Given the description of an element on the screen output the (x, y) to click on. 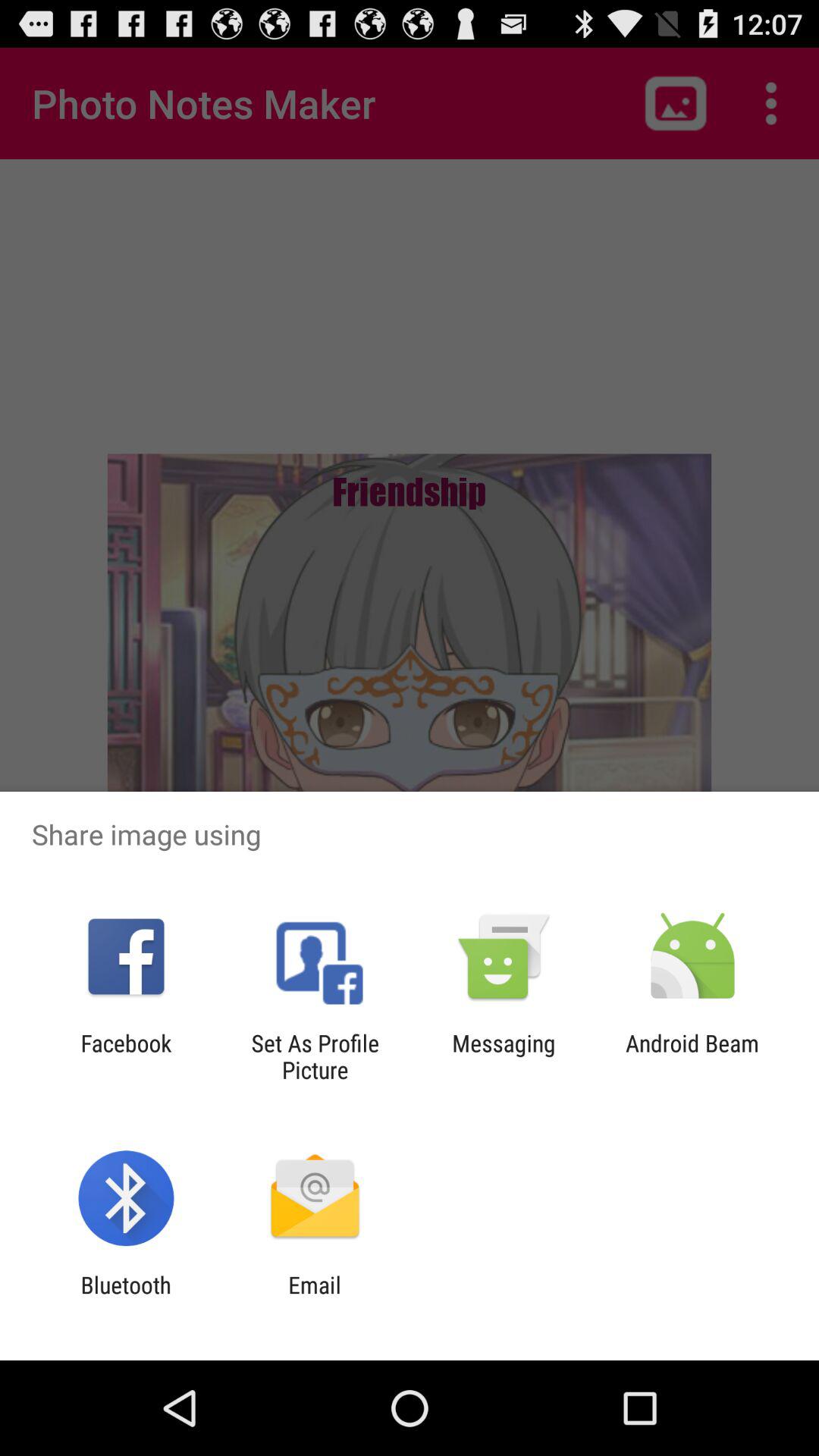
select icon to the right of the bluetooth icon (314, 1298)
